Given the description of an element on the screen output the (x, y) to click on. 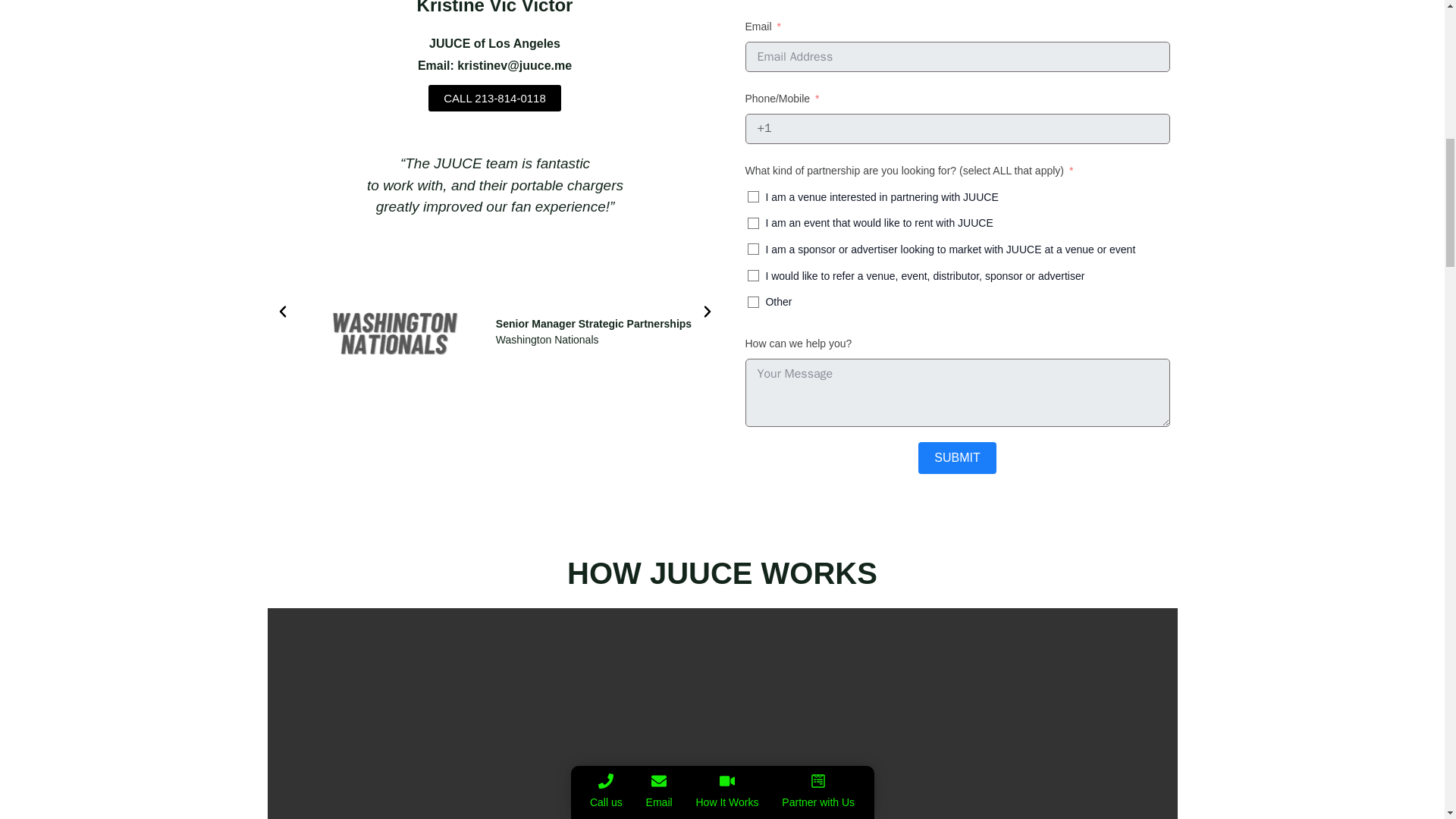
CALL 213-814-0118 (494, 98)
SUBMIT (956, 458)
Call us (605, 0)
Email (659, 0)
